Given the description of an element on the screen output the (x, y) to click on. 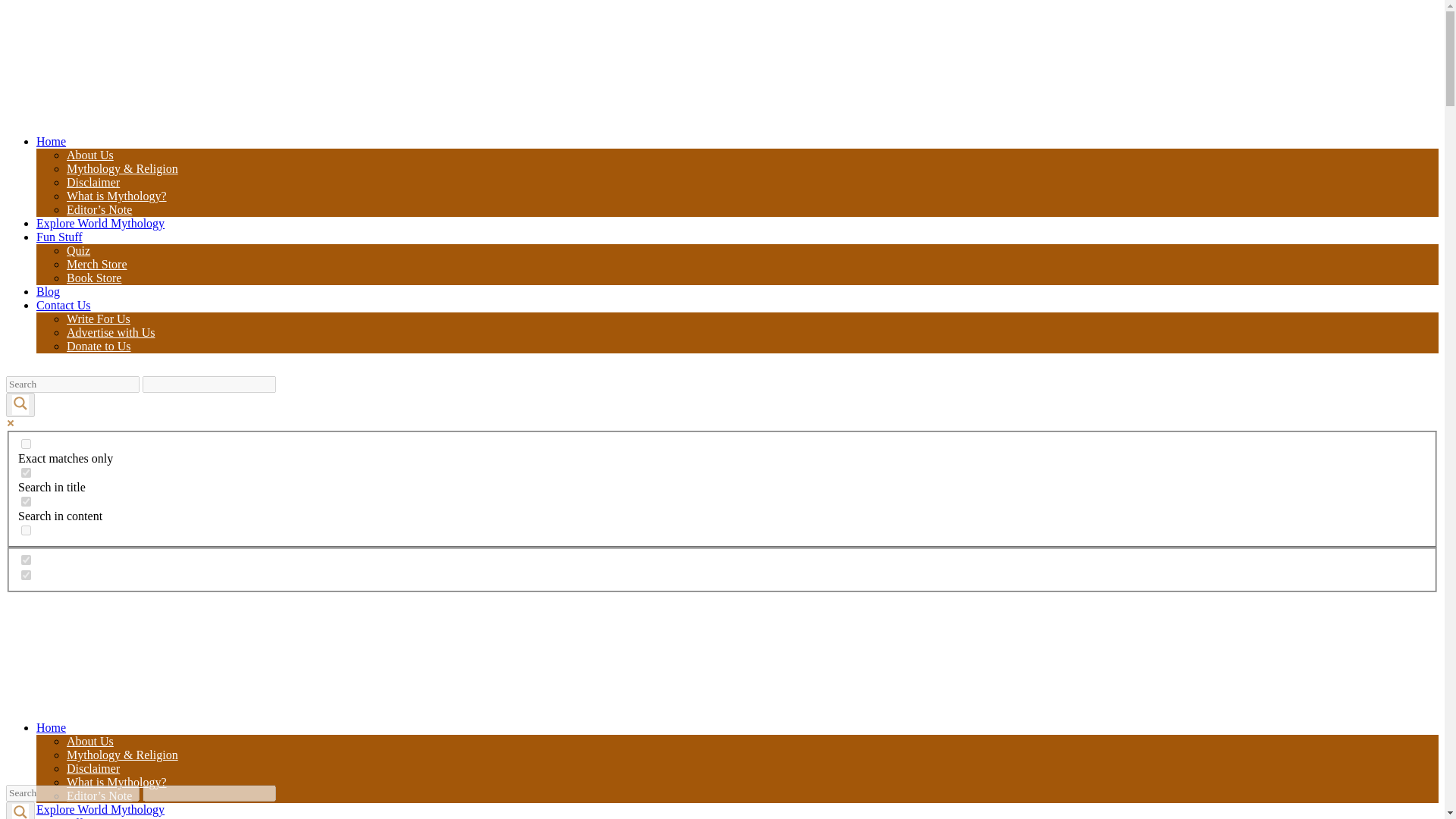
Blog (47, 291)
Book Store (93, 277)
exact (25, 443)
Disclaimer (92, 182)
Disclaimer (92, 768)
excerpt (25, 530)
Explore World Mythology (100, 809)
post (25, 560)
content (25, 501)
Fun Stuff (59, 236)
About Us (89, 154)
Home (50, 727)
Write For Us (98, 318)
page (25, 574)
About Us (89, 740)
